Given the description of an element on the screen output the (x, y) to click on. 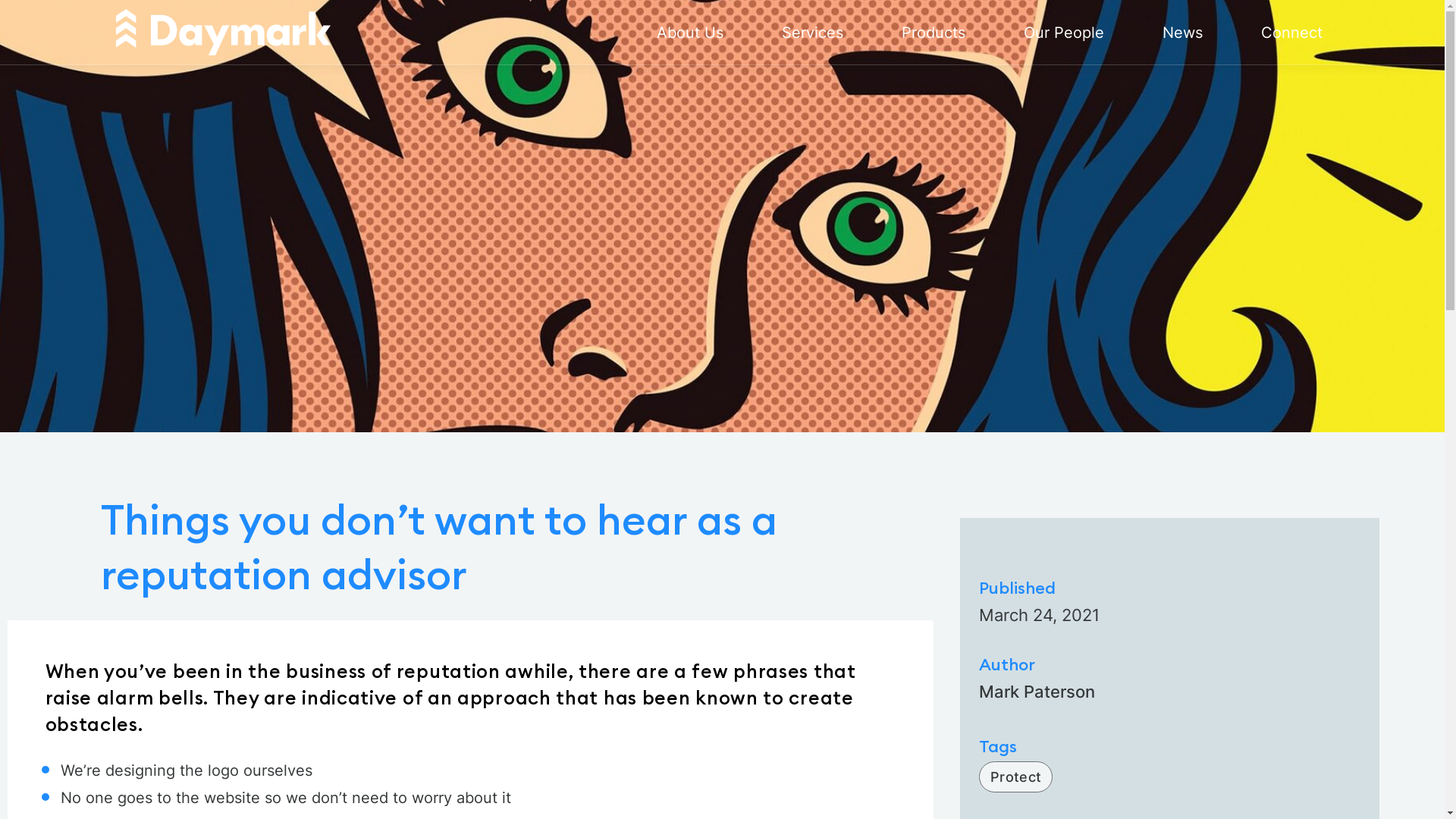
Mark Paterson Element type: text (1169, 692)
Our People Element type: text (1063, 31)
Products Element type: text (932, 31)
Services Element type: text (811, 31)
About Us Element type: text (689, 31)
Connect Element type: text (1290, 31)
News Element type: text (1181, 31)
Protect Element type: text (1015, 776)
